Given the description of an element on the screen output the (x, y) to click on. 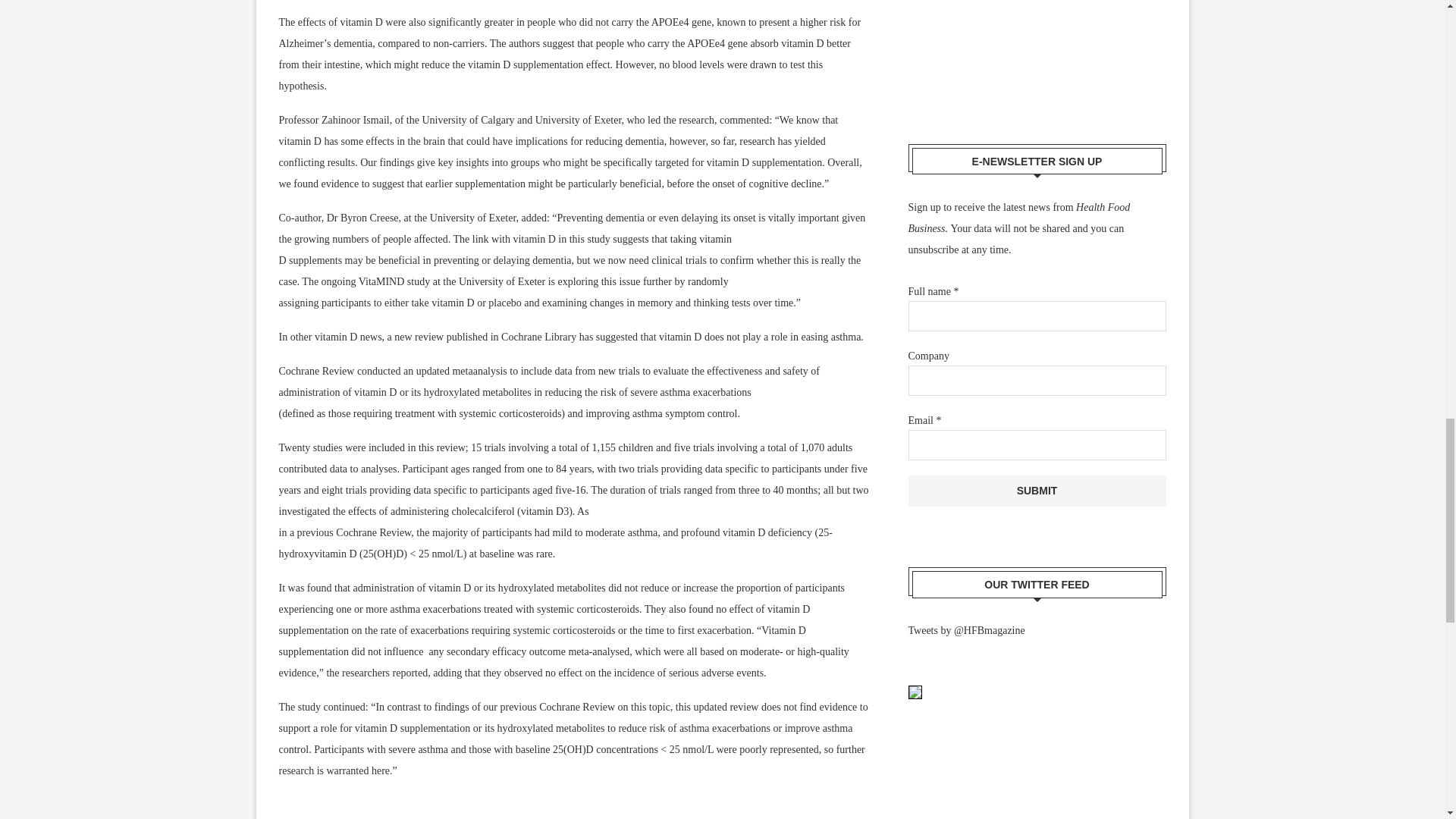
Submit (1037, 490)
